Given the description of an element on the screen output the (x, y) to click on. 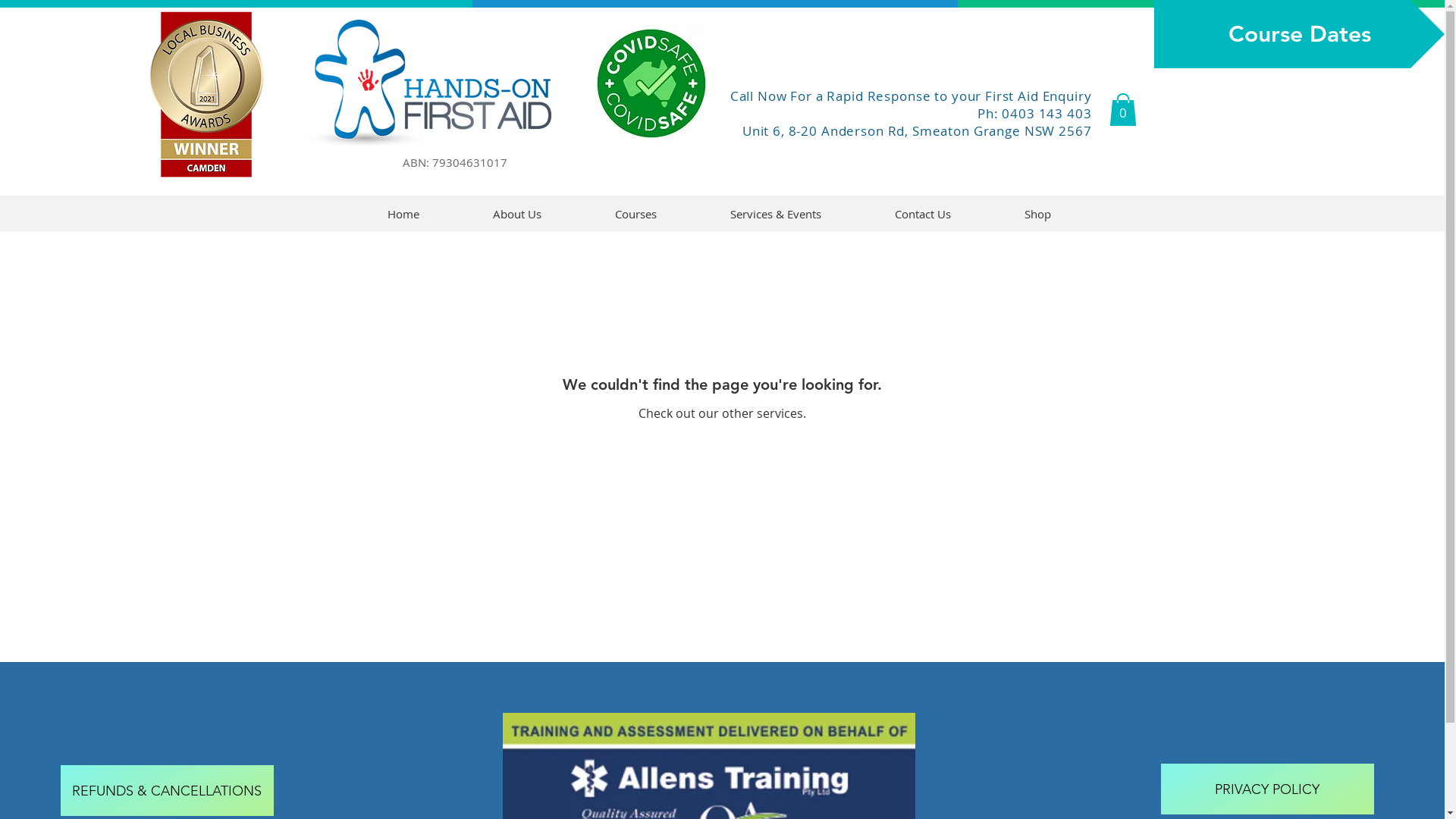
REFUNDS & CANCELLATIONS Element type: text (166, 790)
0 Element type: text (1121, 109)
PRIVACY POLICY Element type: text (1266, 788)
Shop Element type: text (1036, 213)
Contact Us Element type: text (923, 213)
Digital_COVIDSAFE_PrimaryLogo_FullColour Element type: hover (650, 83)
Course Dates Element type: text (1299, 34)
Courses Element type: text (635, 213)
Home Element type: text (402, 213)
Services & Events Element type: text (775, 213)
About Us Element type: text (517, 213)
